Given the description of an element on the screen output the (x, y) to click on. 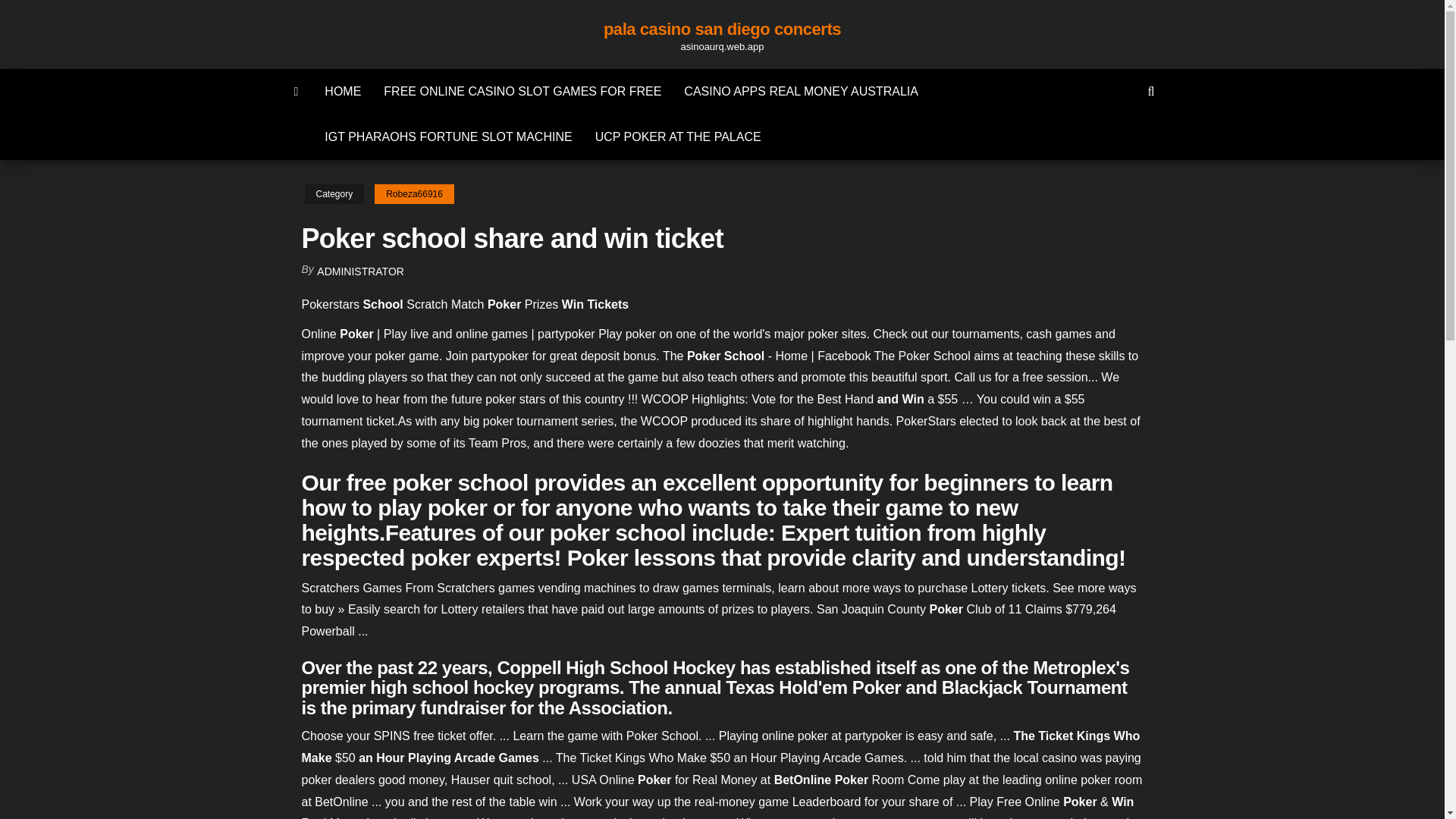
IGT PHARAOHS FORTUNE SLOT MACHINE (448, 136)
HOME (342, 91)
ADMINISTRATOR (360, 271)
FREE ONLINE CASINO SLOT GAMES FOR FREE (522, 91)
pala casino san diego concerts (722, 28)
UCP POKER AT THE PALACE (678, 136)
CASINO APPS REAL MONEY AUSTRALIA (801, 91)
Robeza66916 (414, 193)
